Given the description of an element on the screen output the (x, y) to click on. 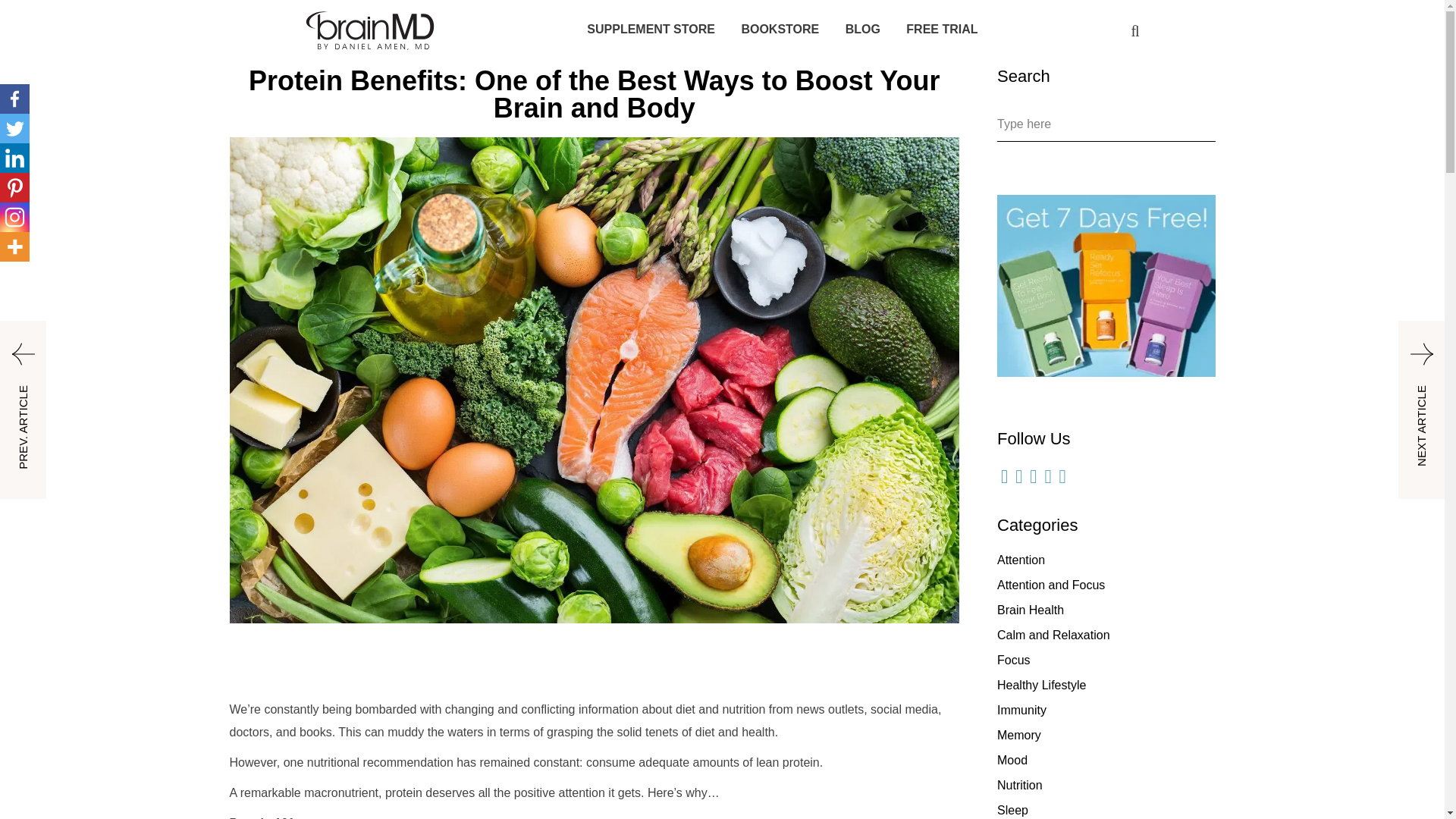
Twitter (14, 128)
Facebook (14, 98)
Linkedin (14, 157)
More (14, 246)
BOOKSTORE (779, 29)
BLOG (862, 29)
Instagram (14, 216)
FREE TRIAL (940, 29)
Pinterest (14, 187)
SUPPLEMENT STORE (650, 29)
